Given the description of an element on the screen output the (x, y) to click on. 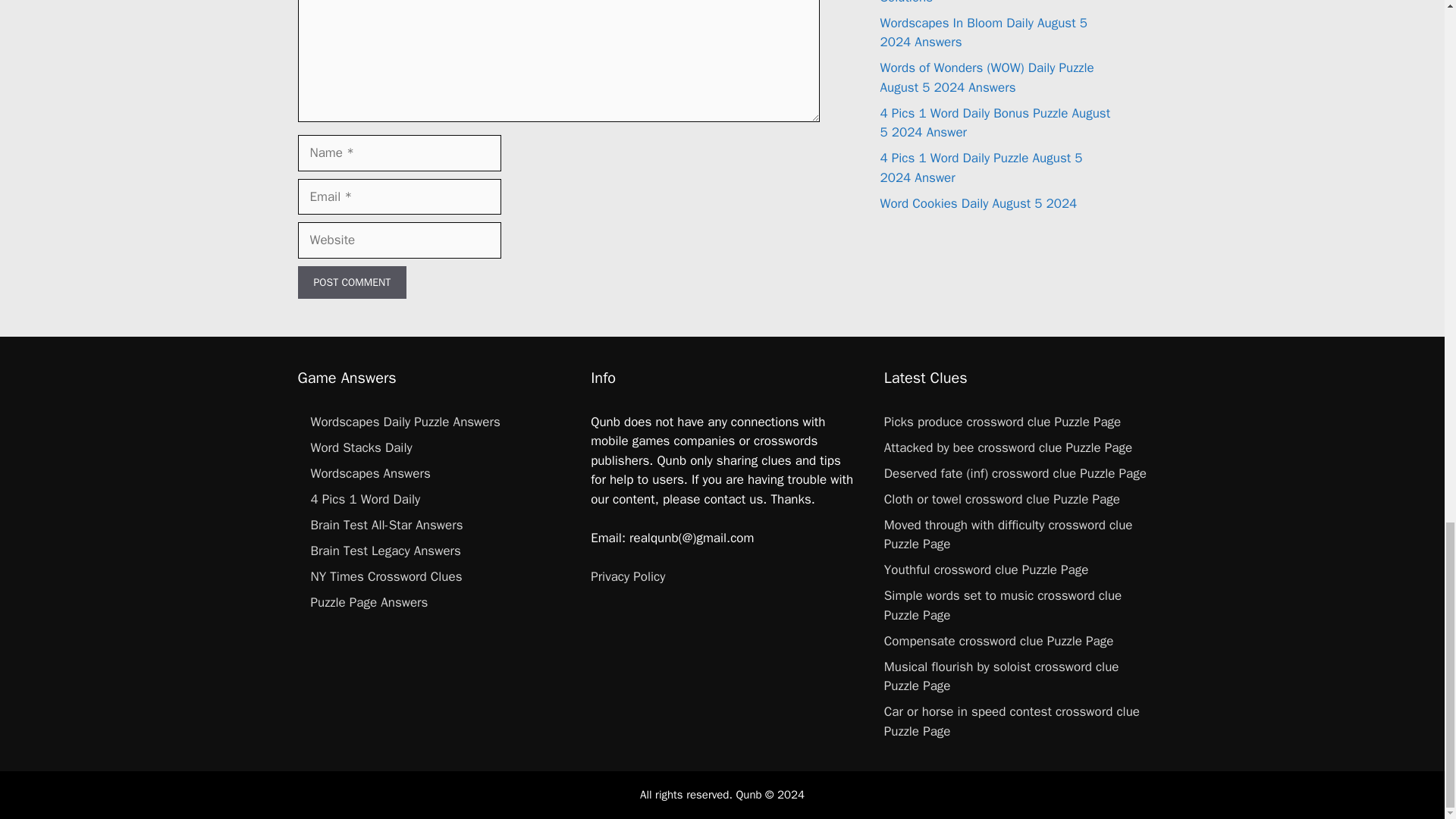
Post Comment (351, 282)
Post Comment (351, 282)
